Given the description of an element on the screen output the (x, y) to click on. 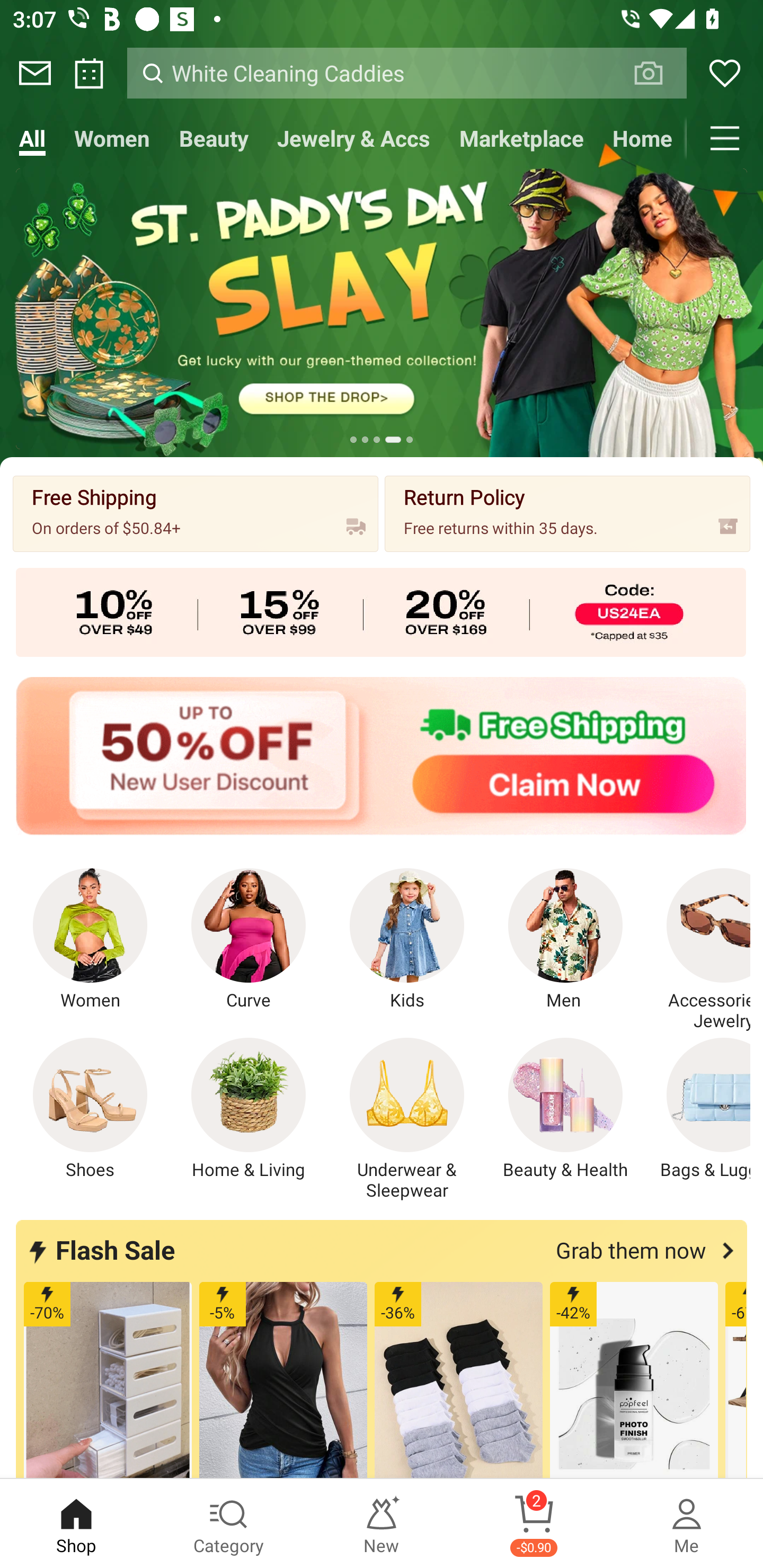
Wishlist (724, 72)
VISUAL SEARCH (657, 72)
All (31, 137)
Women (111, 137)
Beauty (213, 137)
Jewelry & Accs (353, 137)
Marketplace (521, 137)
Home (642, 137)
Free Shipping On orders of $50.84+ (195, 513)
Return Policy Free returns within 35 days. (567, 513)
Women (89, 939)
Curve (248, 939)
Kids (406, 939)
Men  (565, 939)
Accessories & Jewelry (698, 949)
Shoes (89, 1109)
Home & Living (248, 1109)
Underwear & Sleepwear (406, 1119)
Beauty & Health (565, 1109)
Bags & Luggage (698, 1109)
Category (228, 1523)
New (381, 1523)
Cart 2 -$0.90 (533, 1523)
Me (686, 1523)
